Given the description of an element on the screen output the (x, y) to click on. 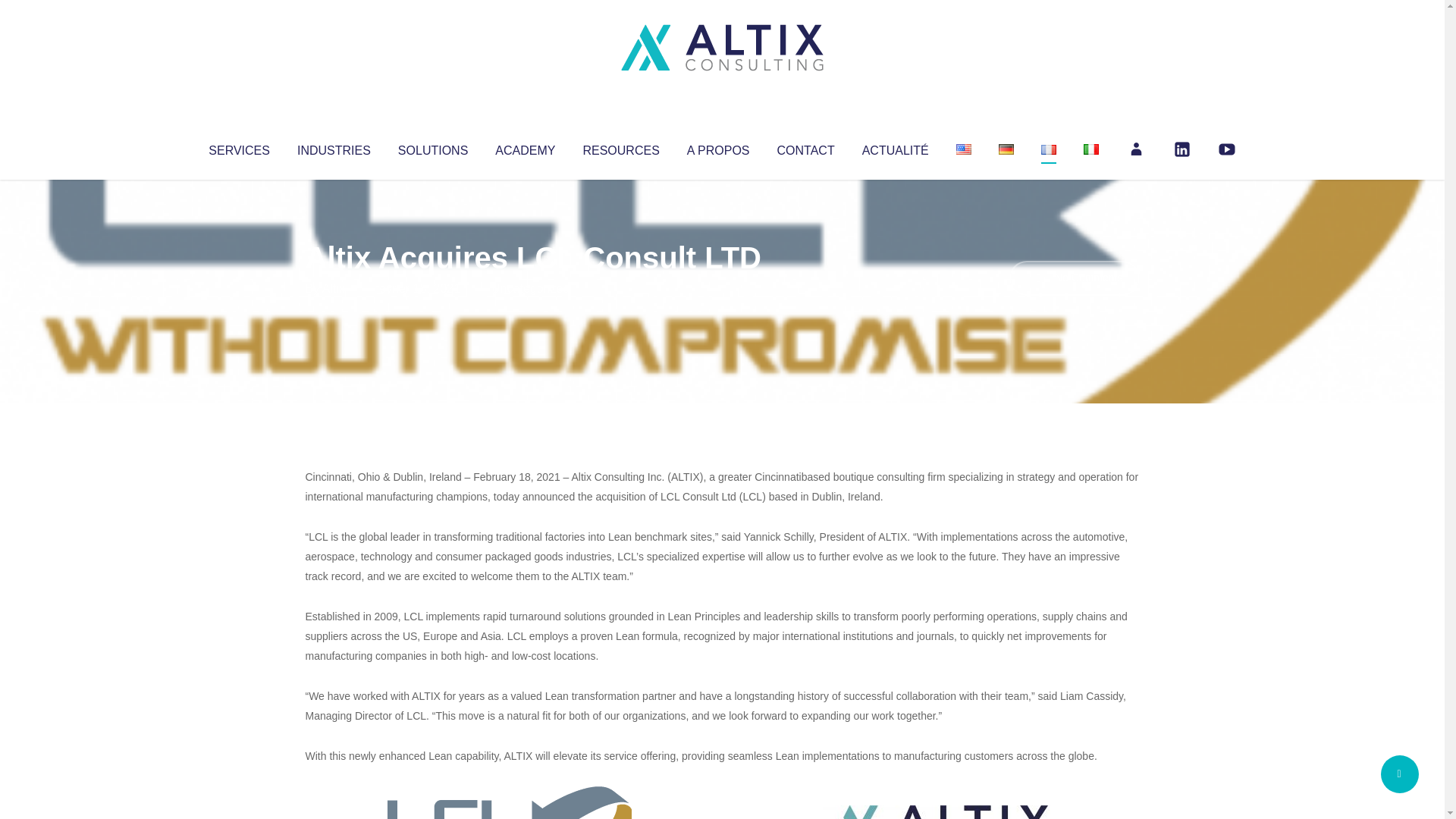
SERVICES (238, 146)
A PROPOS (718, 146)
ACADEMY (524, 146)
Altix (333, 287)
No Comments (1073, 278)
Uncategorized (530, 287)
RESOURCES (620, 146)
INDUSTRIES (334, 146)
Articles par Altix (333, 287)
SOLUTIONS (432, 146)
